Given the description of an element on the screen output the (x, y) to click on. 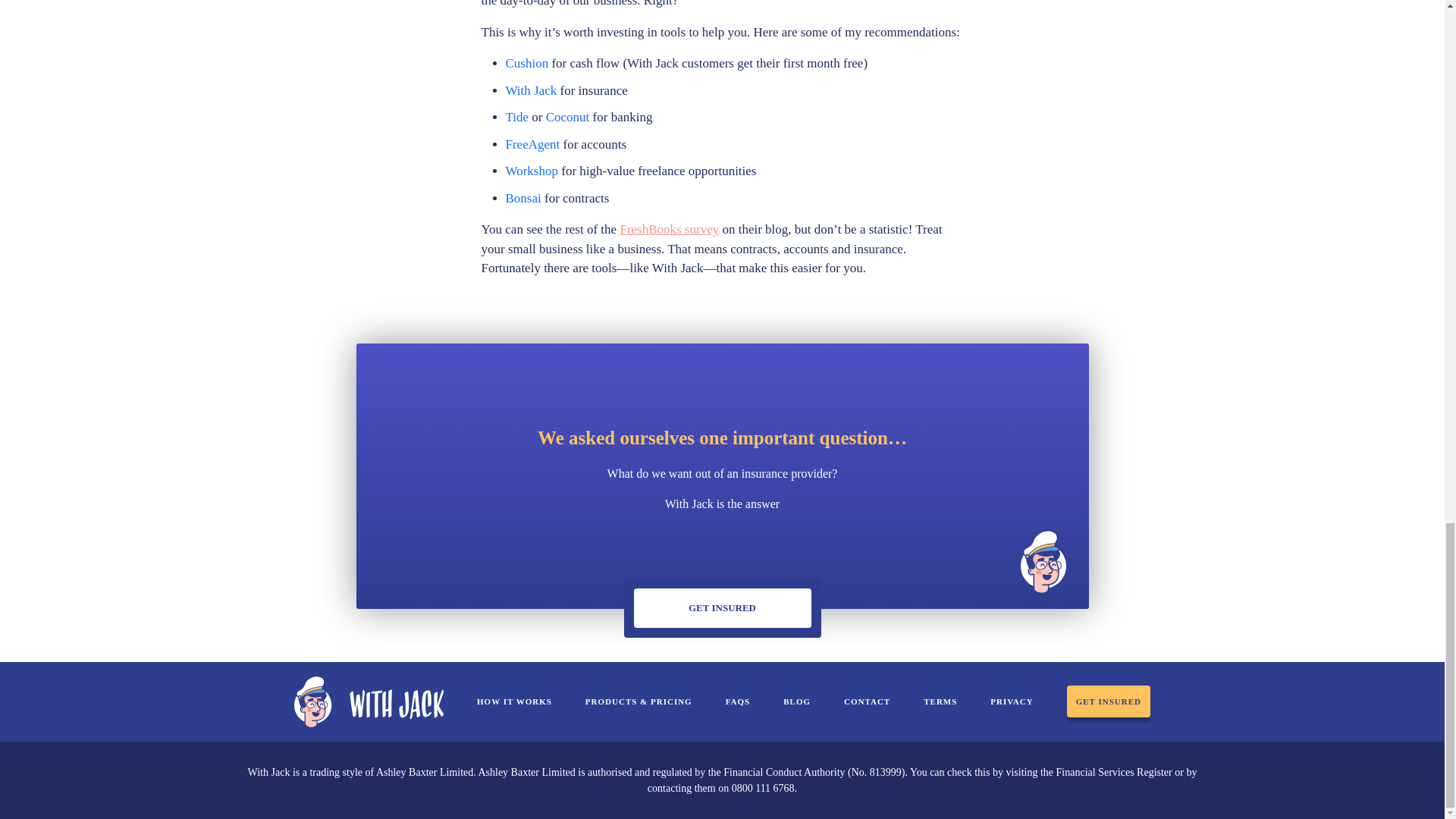
HOW IT WORKS (514, 700)
GET INSURED (721, 608)
Tide (516, 116)
CONTACT (866, 700)
Bonsai (522, 197)
FreeAgent (532, 144)
Coconut (567, 116)
FreshBooks survey (669, 228)
Workshop (531, 170)
FAQS (738, 700)
BLOG (796, 700)
With Jack (530, 90)
Cushion (526, 63)
